Given the description of an element on the screen output the (x, y) to click on. 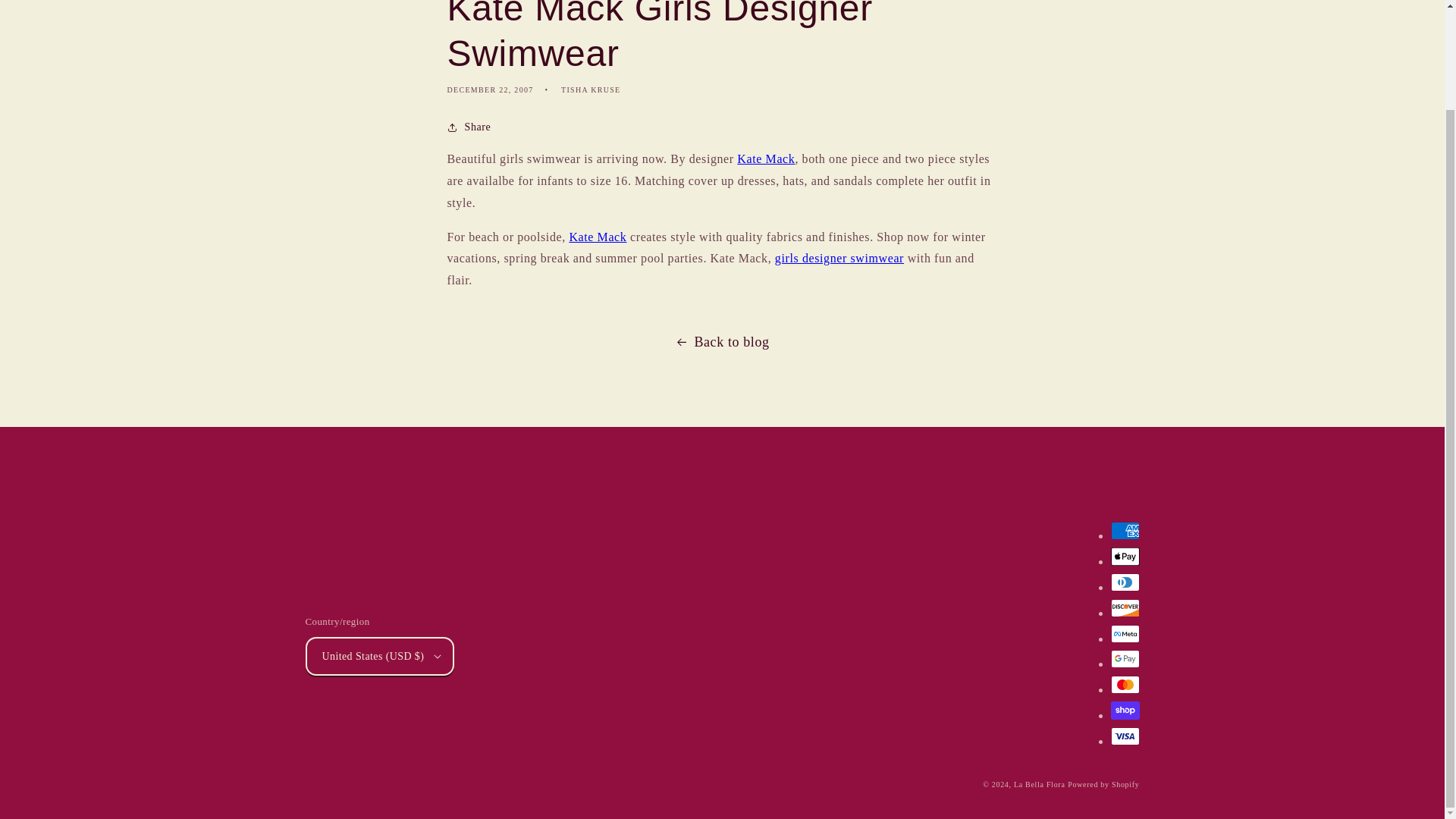
Google Pay (1123, 659)
Meta Pay (1123, 633)
American Express (1123, 530)
Kate Mack (597, 236)
Diners Club (1123, 582)
Apple Pay (1123, 556)
Mastercard (1123, 684)
La Bella Flora (1039, 784)
Shop Pay (1123, 710)
Kate Mack (765, 158)
Powered by Shopify (1102, 784)
Discover (1123, 607)
Visa (1123, 736)
girls designer swimwear (839, 257)
